Given the description of an element on the screen output the (x, y) to click on. 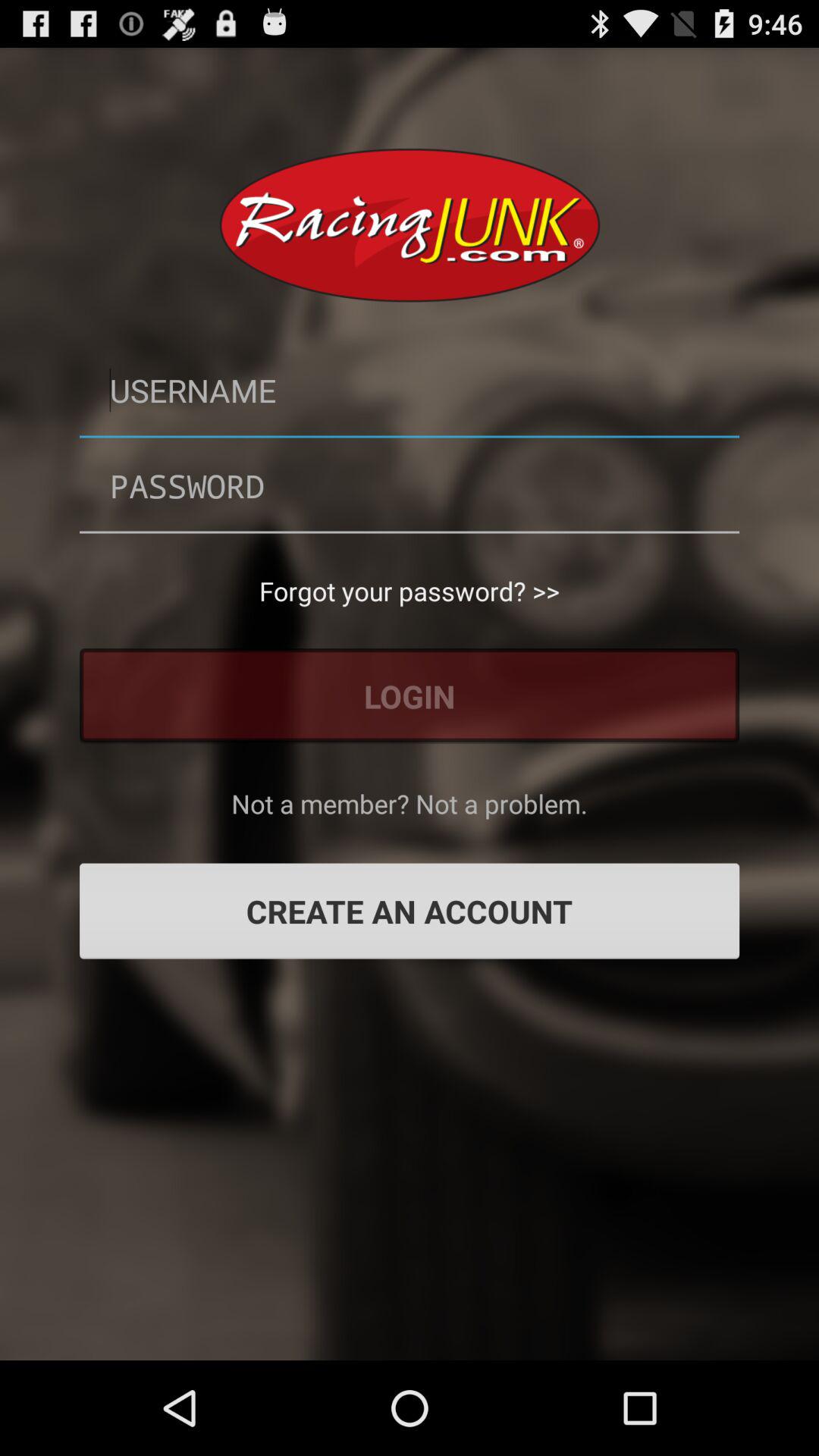
launch login icon (409, 695)
